Given the description of an element on the screen output the (x, y) to click on. 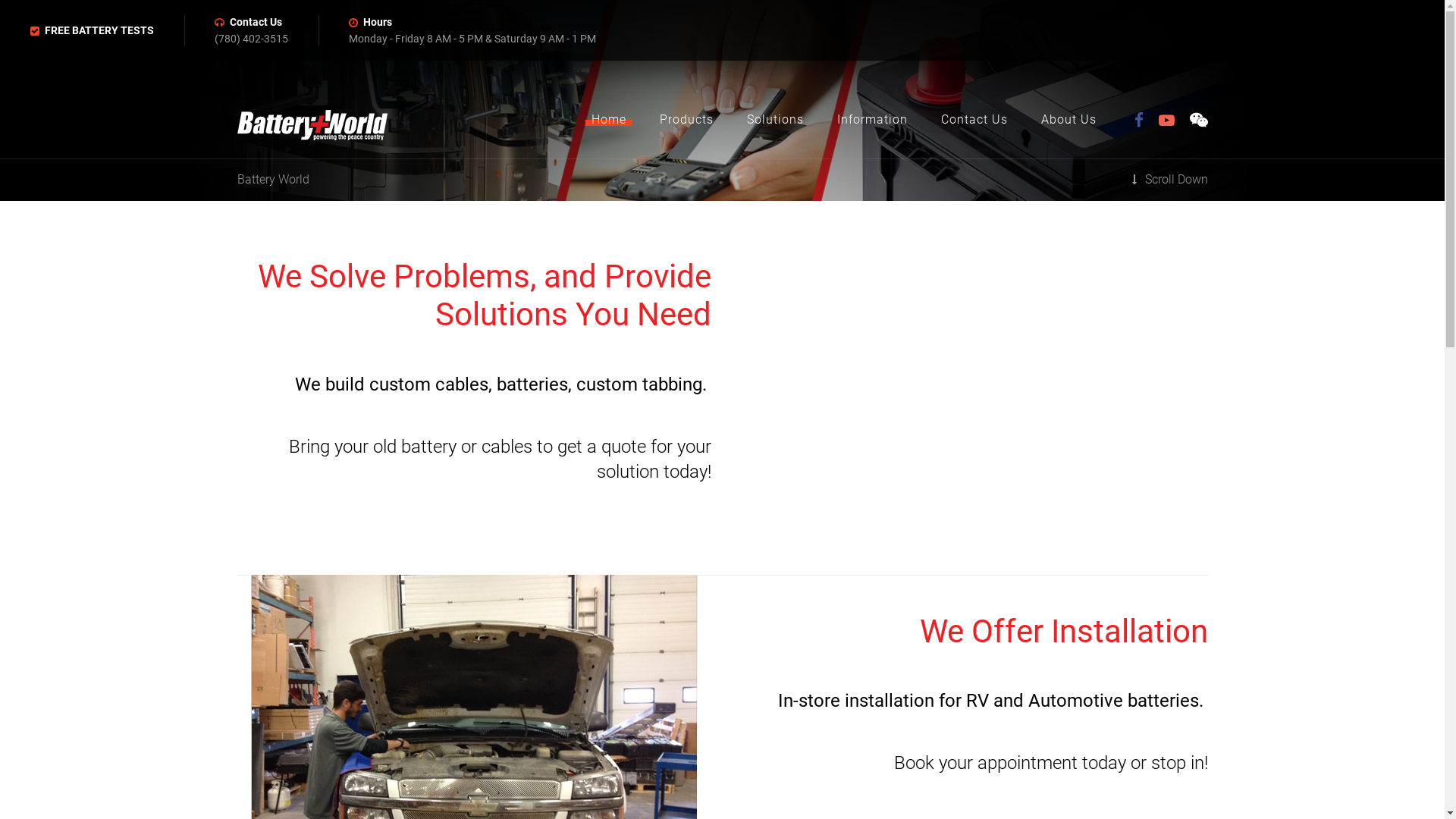
Contact Us Element type: text (255, 21)
Information Element type: text (872, 119)
Hours Element type: text (377, 21)
FREE BATTERY TESTS Element type: text (98, 30)
About Us Element type: text (1067, 119)
Solutions Element type: text (774, 119)
Products Element type: text (686, 119)
Home Element type: text (608, 119)
Contact Us Element type: text (973, 119)
Scroll Down Element type: text (1169, 179)
